Given the description of an element on the screen output the (x, y) to click on. 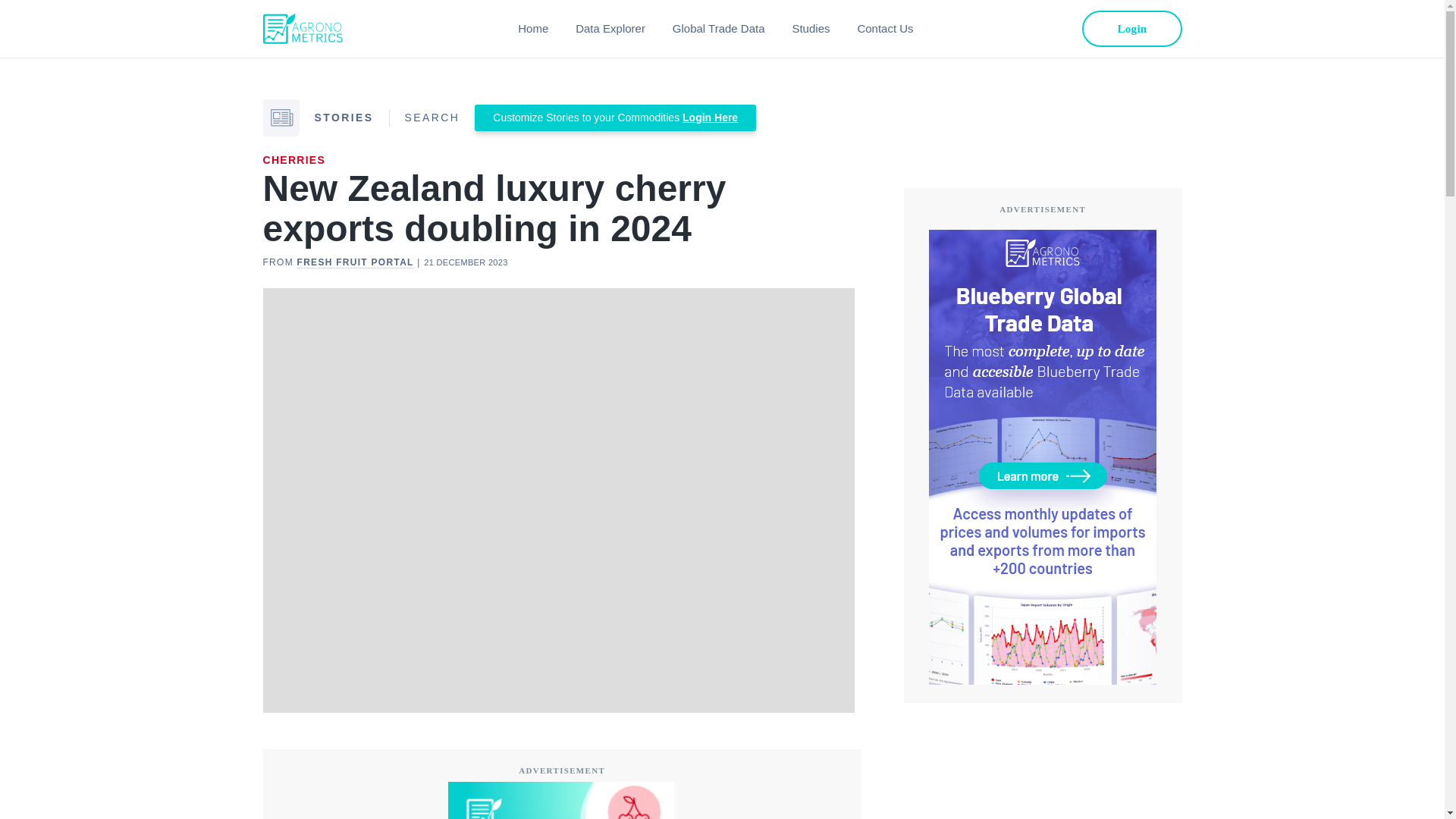
Customize Stories to your Commodities Login Here (614, 117)
Login (1130, 28)
CHERRIES (293, 159)
STORIES (343, 117)
Global Trade Data (718, 28)
Contact Us (884, 28)
Data Explorer (610, 28)
SEARCH (432, 117)
FRESH FRUIT PORTAL (355, 262)
